Given the description of an element on the screen output the (x, y) to click on. 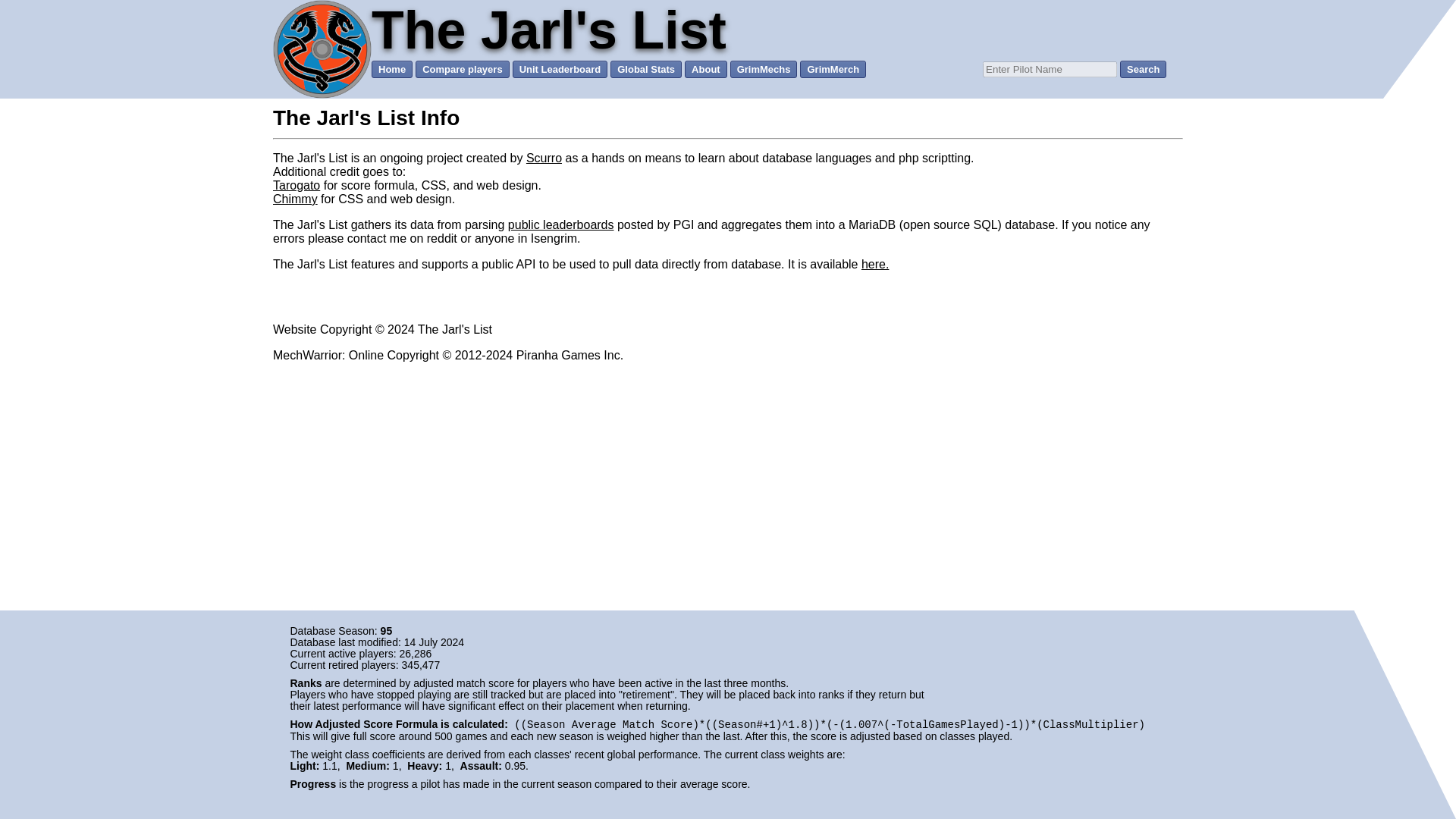
Home (391, 68)
Search (1142, 68)
public leaderboards (561, 224)
here. (874, 264)
Chimmy (295, 198)
Global Stats (645, 68)
Search (1142, 68)
GrimMerch (832, 68)
Compare players (461, 68)
Scurro (543, 157)
Tarogato (296, 185)
Unit Leaderboard (560, 68)
GrimMechs (763, 68)
About (705, 68)
